Given the description of an element on the screen output the (x, y) to click on. 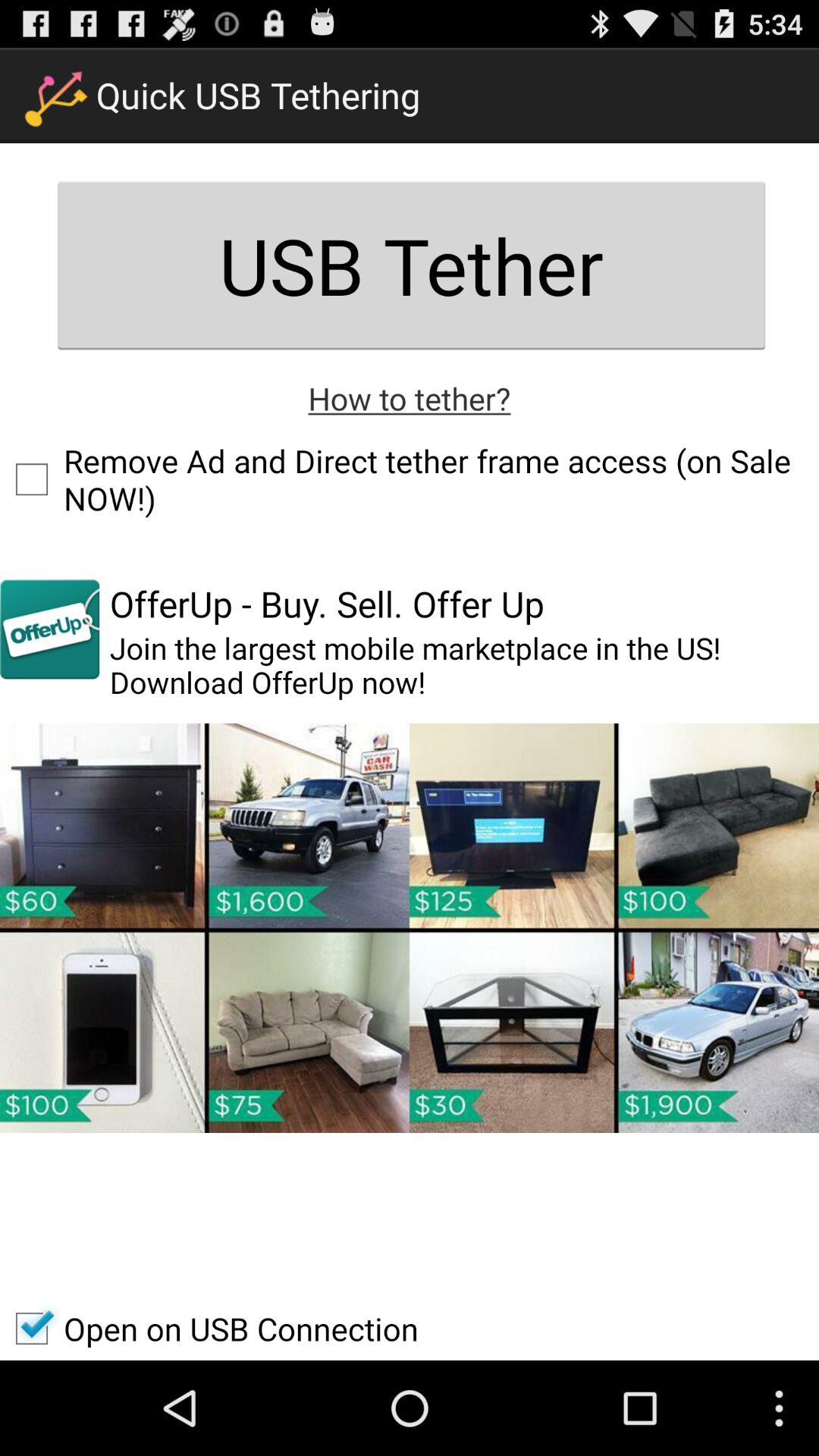
select the offerup buy sell item (326, 603)
